Given the description of an element on the screen output the (x, y) to click on. 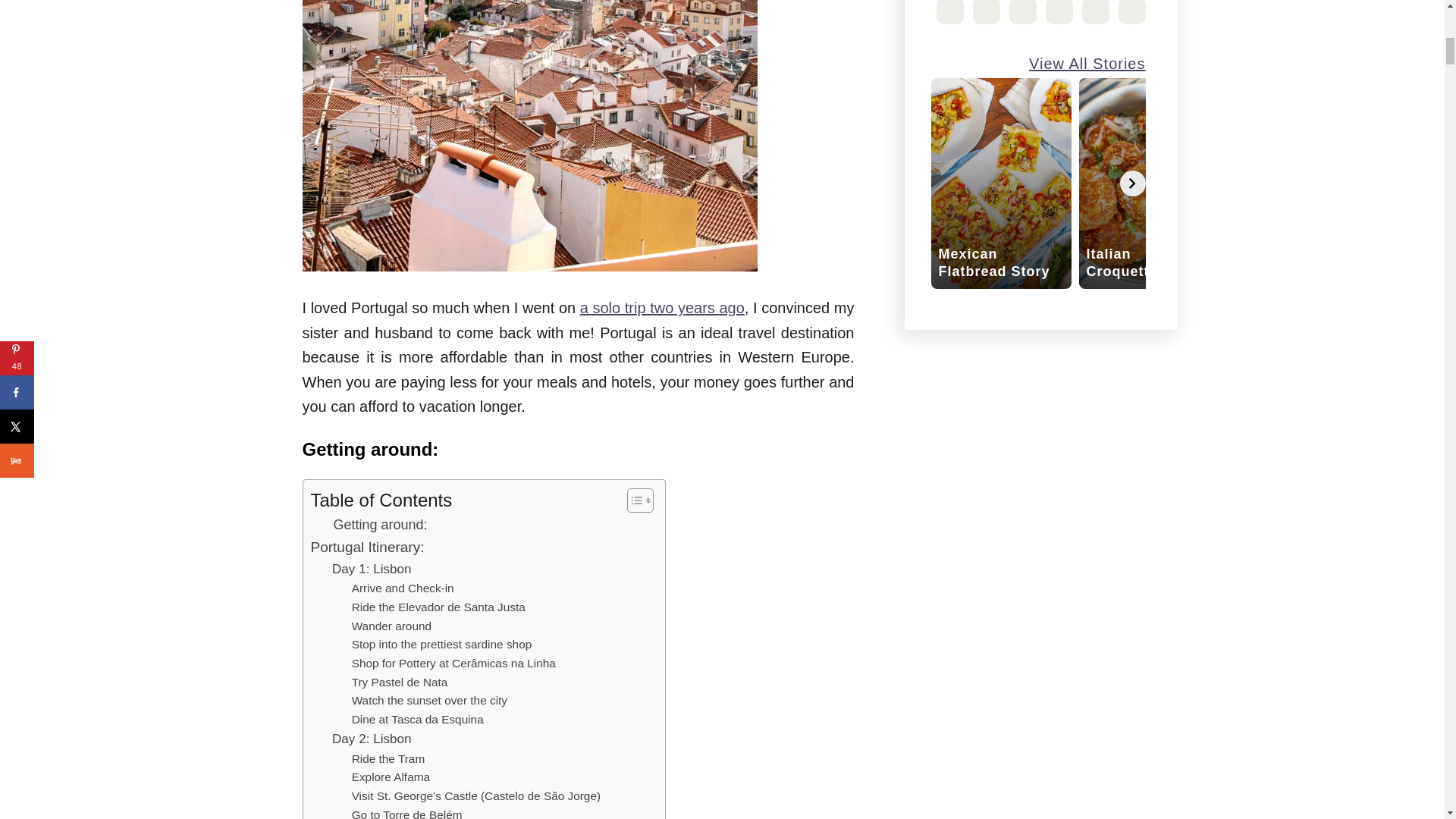
a solo trip two years ago (661, 307)
Getting around: (380, 525)
Arrive and Check-in (403, 588)
Day 1: Lisbon (371, 568)
Arrive and Check-in (403, 588)
Getting around: (380, 525)
Ride the Elevador de Santa Justa (438, 607)
Portugal Itinerary: (368, 547)
Day 1: Lisbon (371, 568)
Portugal Itinerary: (368, 547)
